Given the description of an element on the screen output the (x, y) to click on. 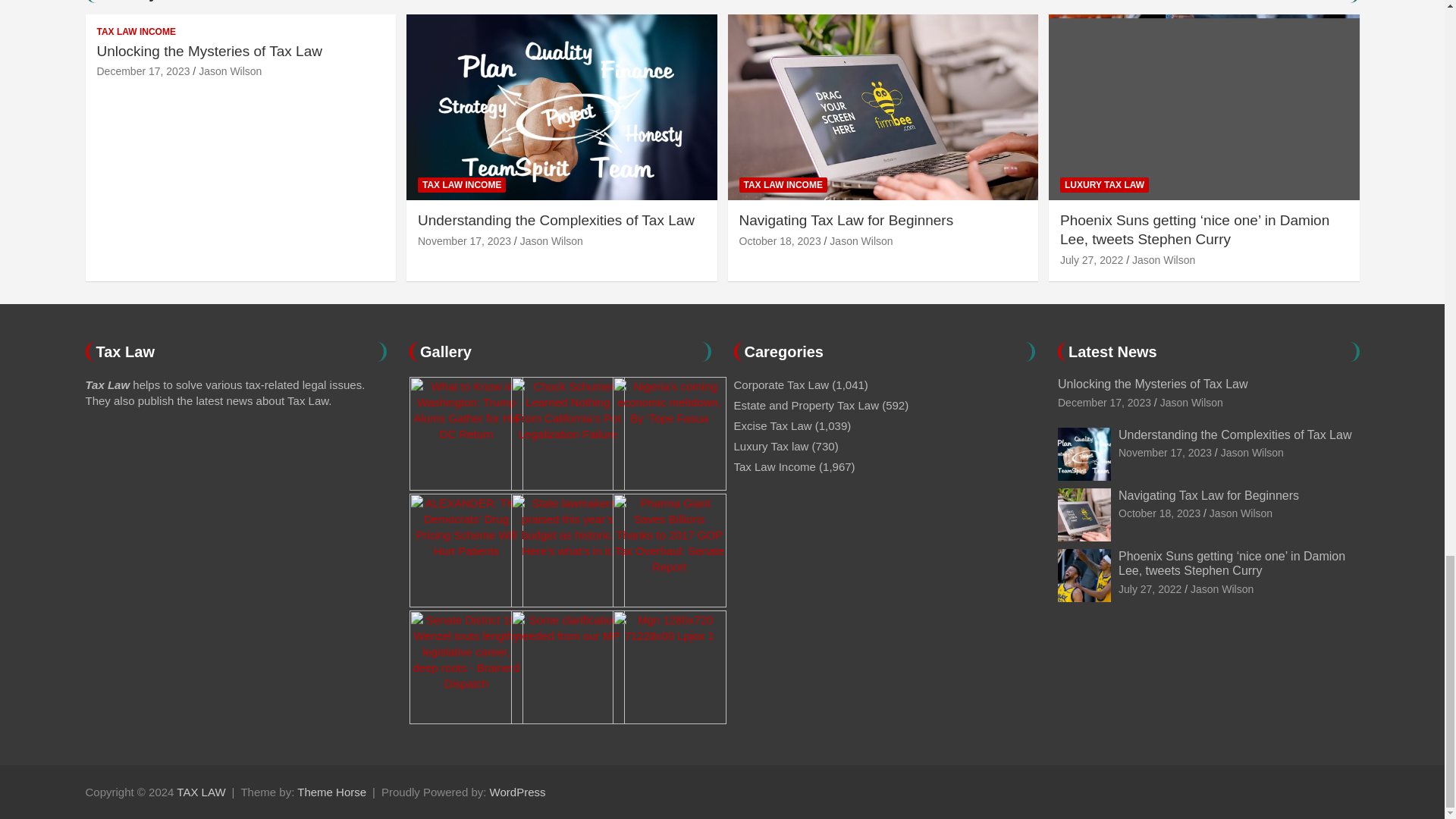
Navigating Tax Law for Beginners (779, 241)
WordPress (517, 791)
Understanding the Complexities of Tax Law (1164, 452)
Understanding the Complexities of Tax Law (464, 241)
Unlocking the Mysteries of Tax Law (1104, 402)
TAX LAW (200, 791)
Navigating Tax Law for Beginners (1158, 512)
Theme Horse (331, 791)
Unlocking the Mysteries of Tax Law (143, 70)
